Given the description of an element on the screen output the (x, y) to click on. 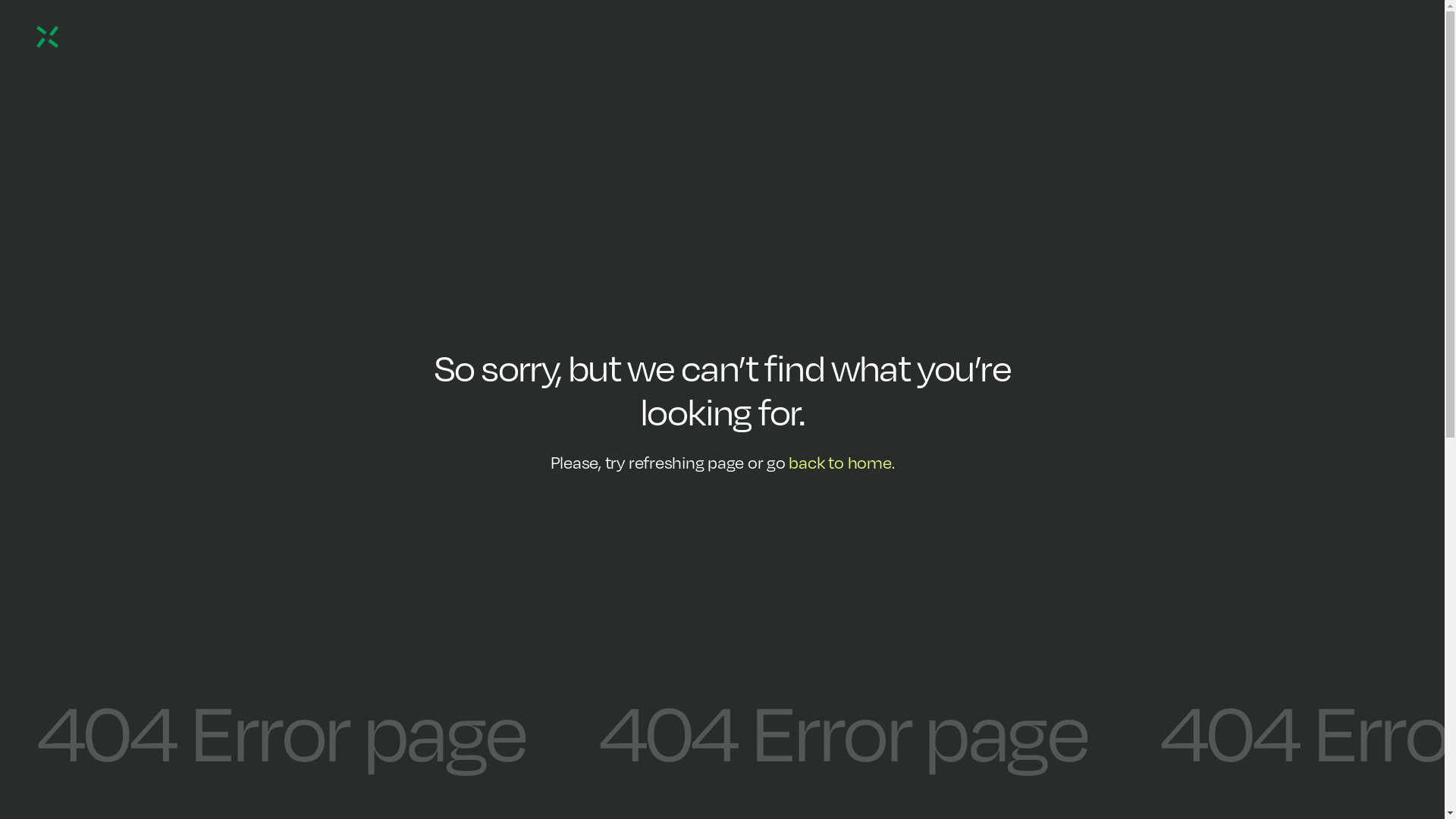
Data Privacy Element type: text (762, 37)
Check Availability Element type: text (1349, 37)
Data Catalog Element type: text (503, 37)
Master Data Element type: text (633, 37)
News Element type: text (978, 37)
back to home. Element type: text (841, 462)
About Us Element type: text (881, 37)
